Given the description of an element on the screen output the (x, y) to click on. 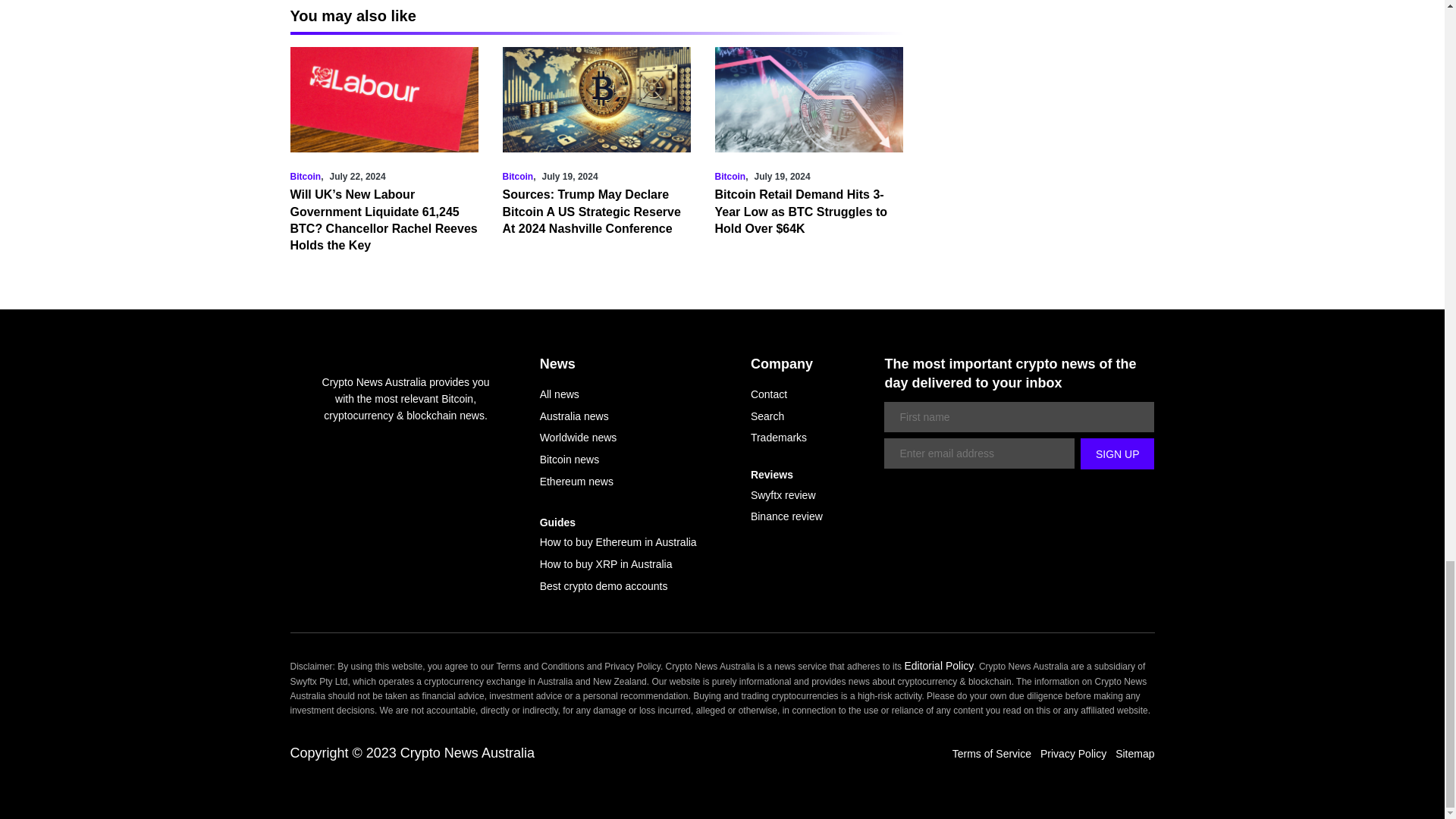
Bitcoin (304, 176)
Bitcoin (517, 176)
Sign up (1117, 453)
